Given the description of an element on the screen output the (x, y) to click on. 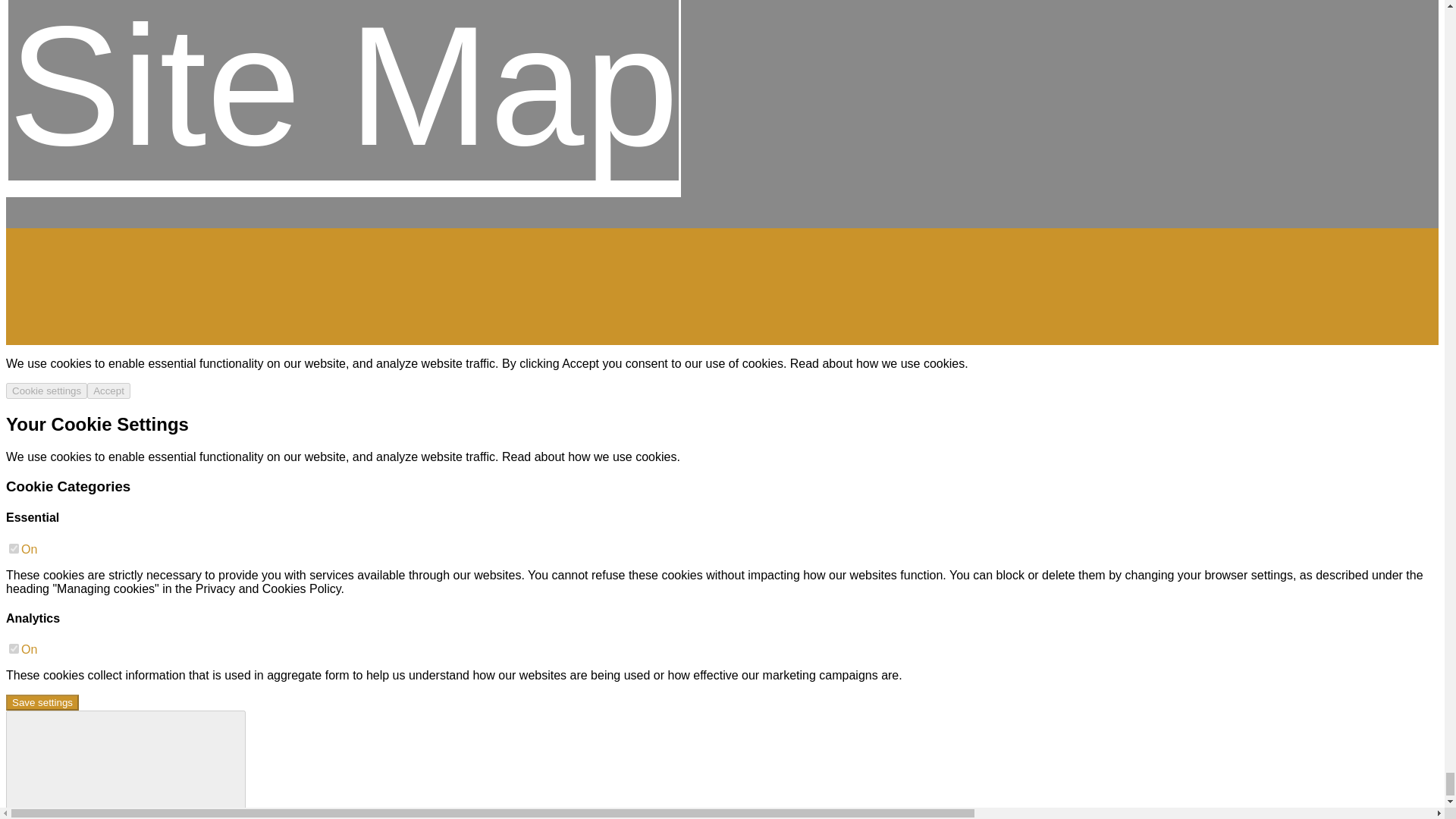
Read about how we use cookies. (879, 363)
Site Map (343, 98)
Read about how we use cookies (589, 456)
on (13, 648)
Accept (109, 390)
Privacy and Cookies Policy (267, 588)
on (13, 548)
Save settings (41, 702)
Cookie settings (46, 390)
